Given the description of an element on the screen output the (x, y) to click on. 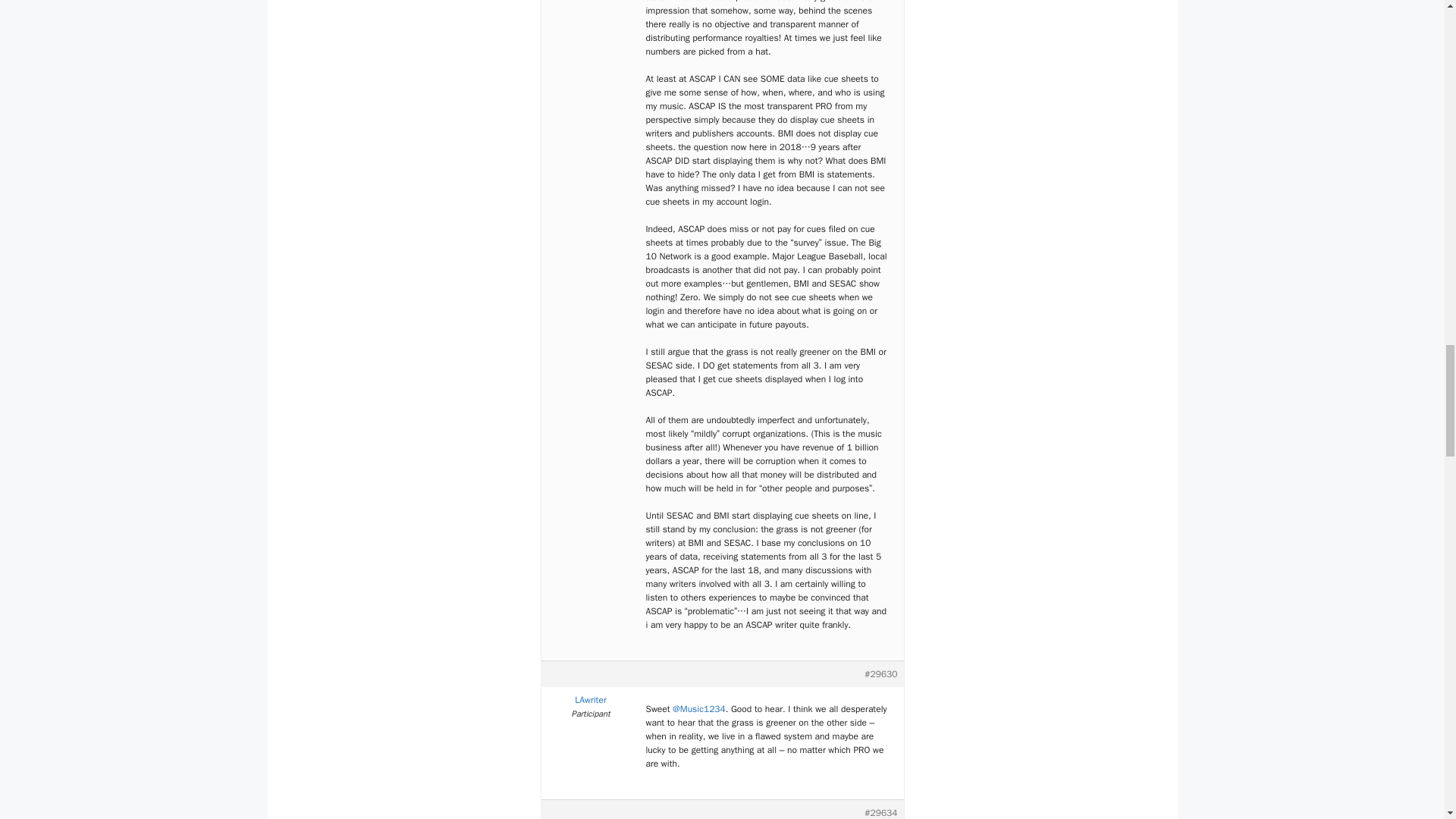
View LAwriter's profile (590, 699)
